Given the description of an element on the screen output the (x, y) to click on. 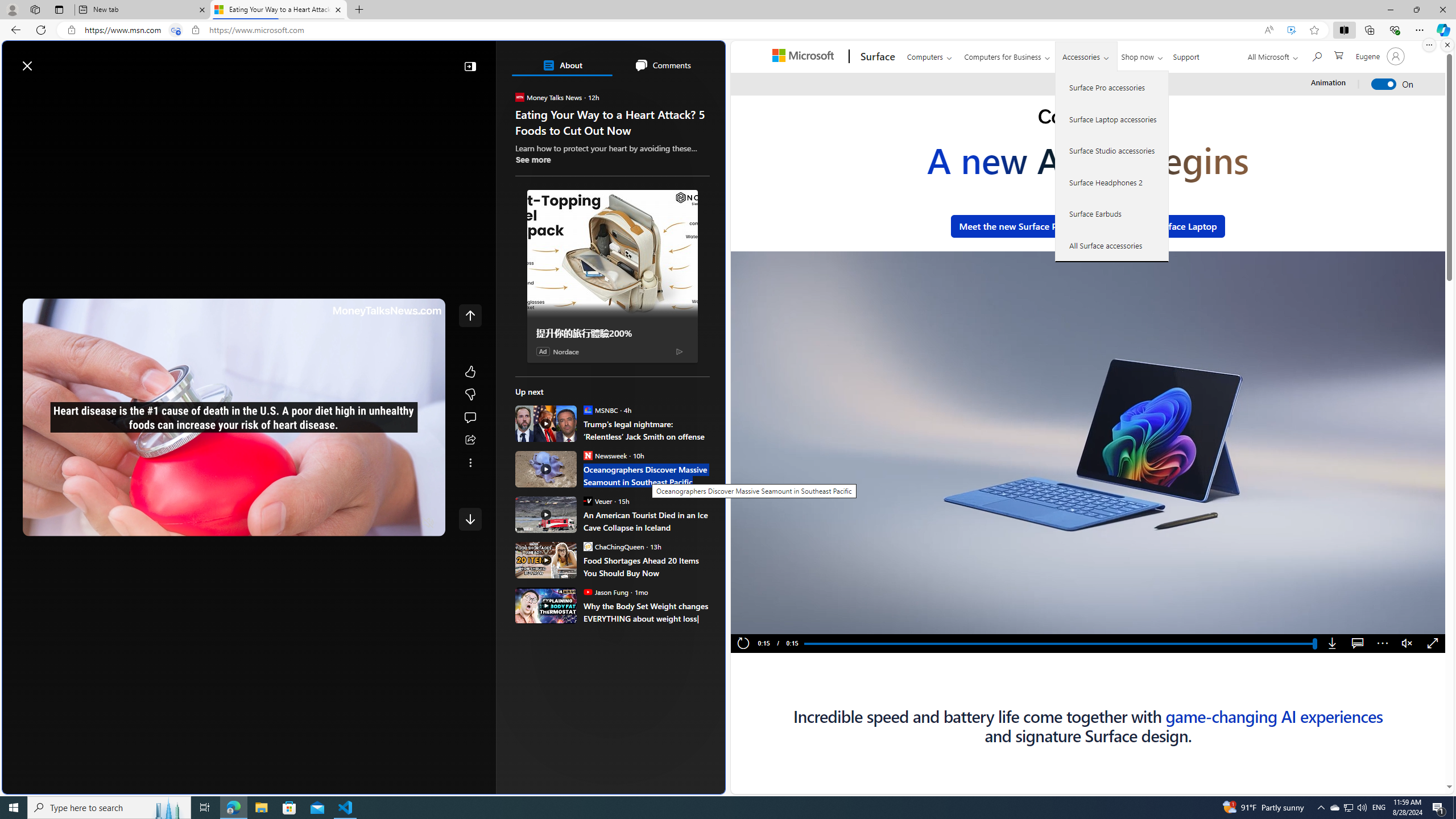
Food Shortages Ahead 20 Items You Should Buy Now (646, 566)
Like (469, 371)
MSNBC MSNBC (600, 409)
Eating Your Way to a Heart Attack? 5 Foods to Cut Out Now (277, 9)
Newsweek Newsweek (604, 455)
